Given the description of an element on the screen output the (x, y) to click on. 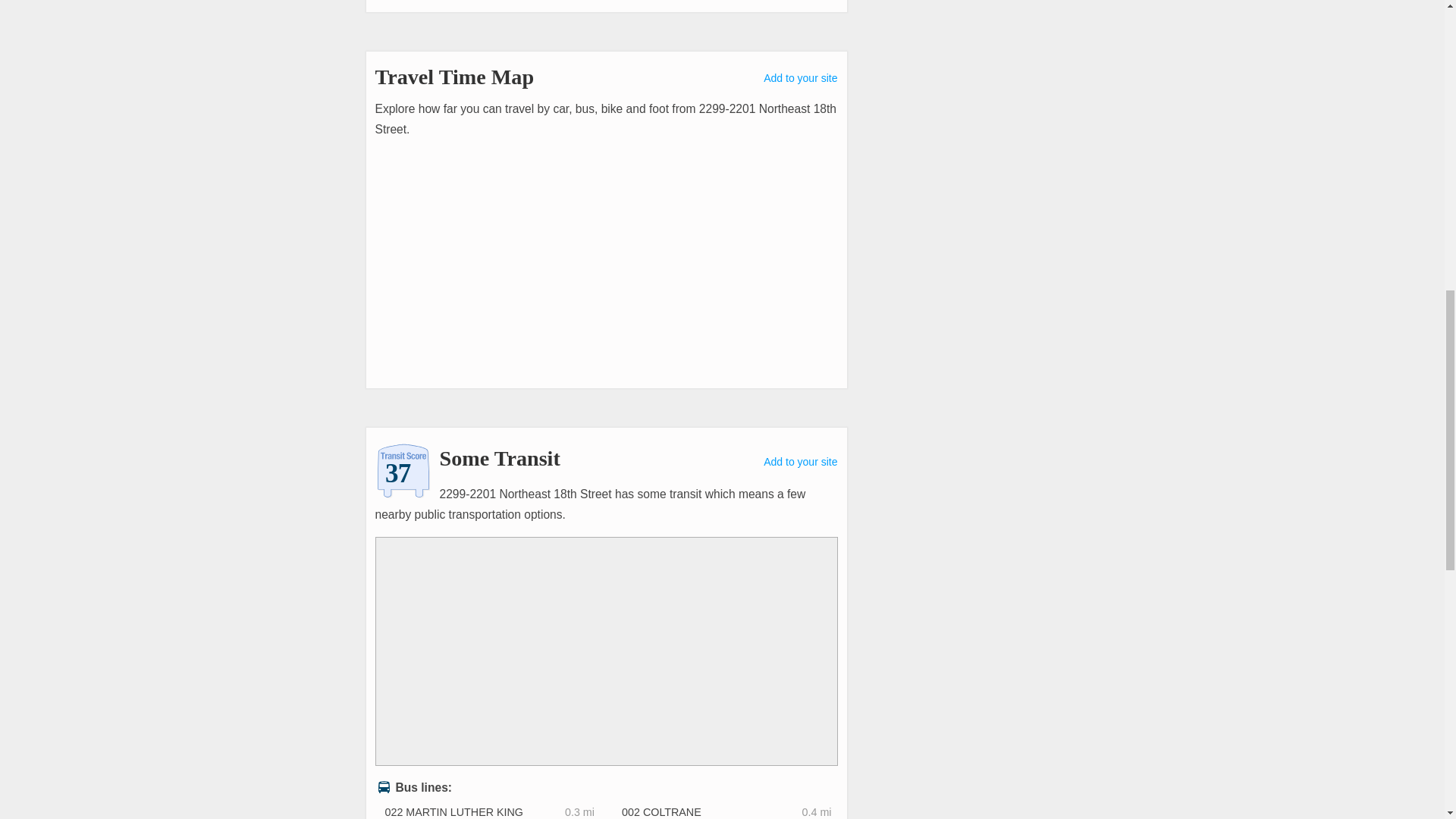
Add to your site (799, 461)
Add to your site (799, 78)
